Given the description of an element on the screen output the (x, y) to click on. 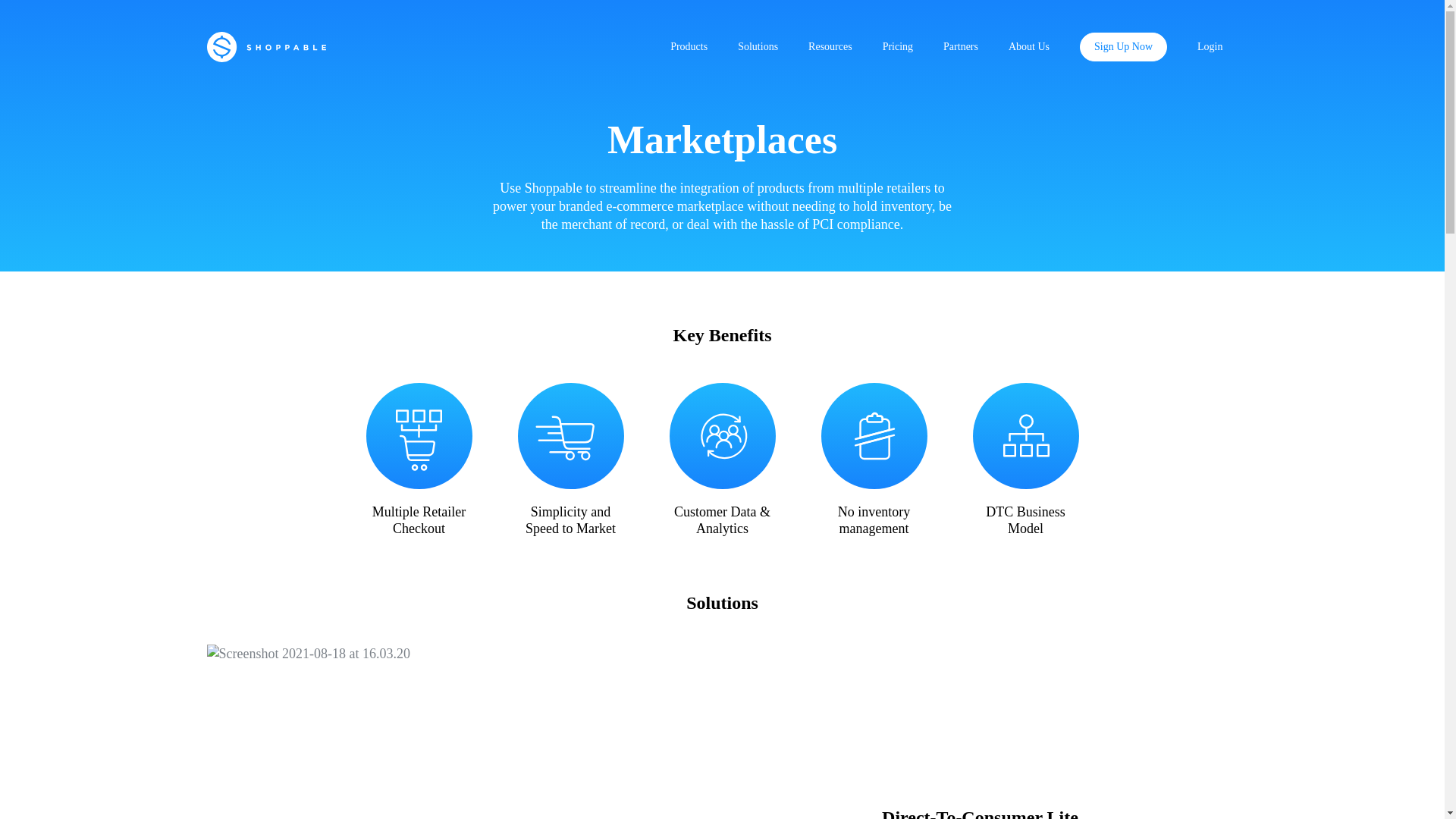
Solutions (757, 46)
Sign Up Now (1123, 46)
Login (1209, 46)
About Us (1028, 46)
Partners (960, 46)
Pricing (897, 46)
Resources (830, 46)
Products (688, 46)
